Given the description of an element on the screen output the (x, y) to click on. 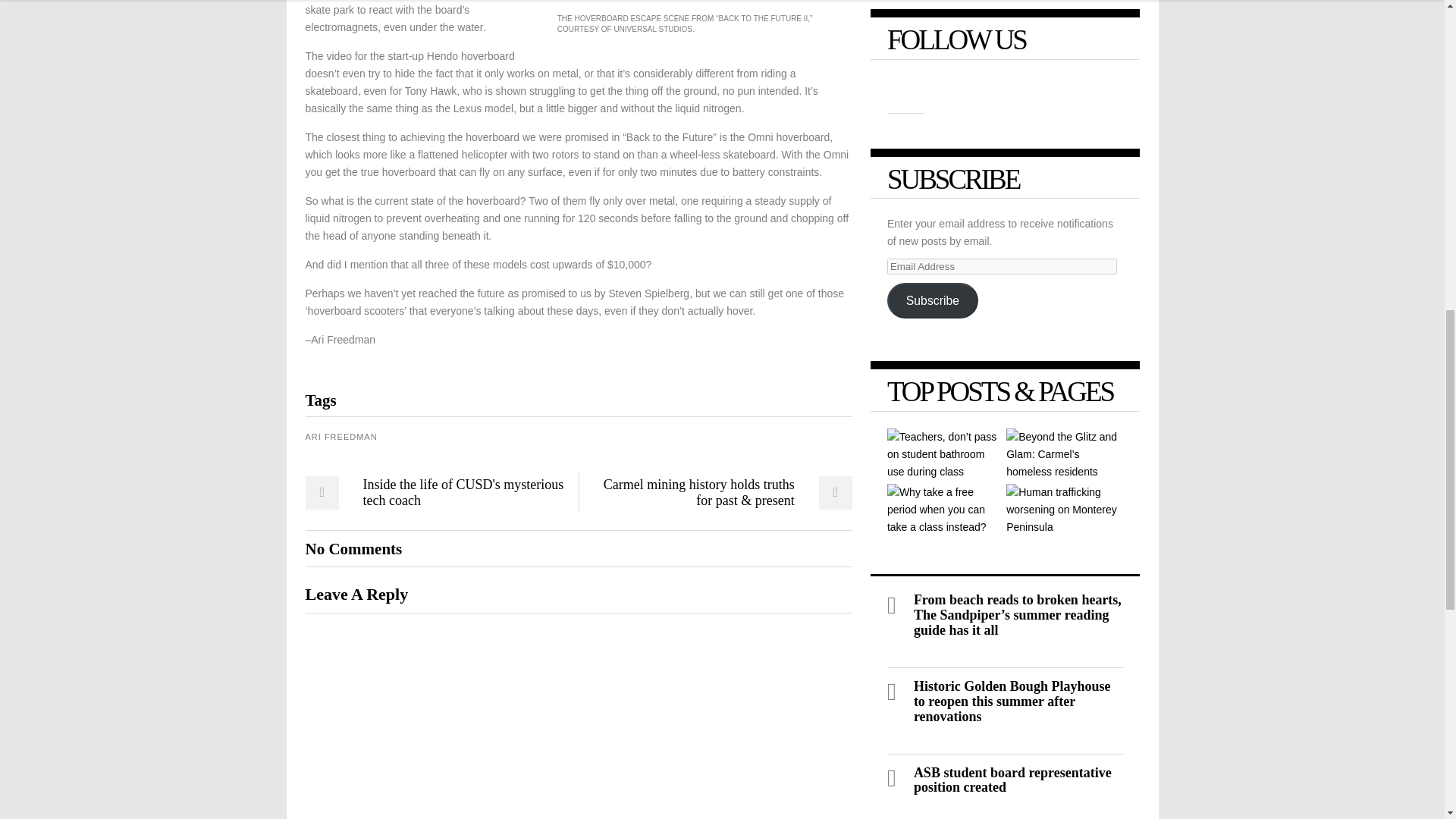
Why take a free period when you can take a class instead? (944, 510)
Human trafficking worsening on Monterey Peninsula (1064, 510)
Inside the life of CUSD's mysterious tech coach (435, 492)
Comment Form (577, 716)
ARI FREEDMAN (340, 437)
